Given the description of an element on the screen output the (x, y) to click on. 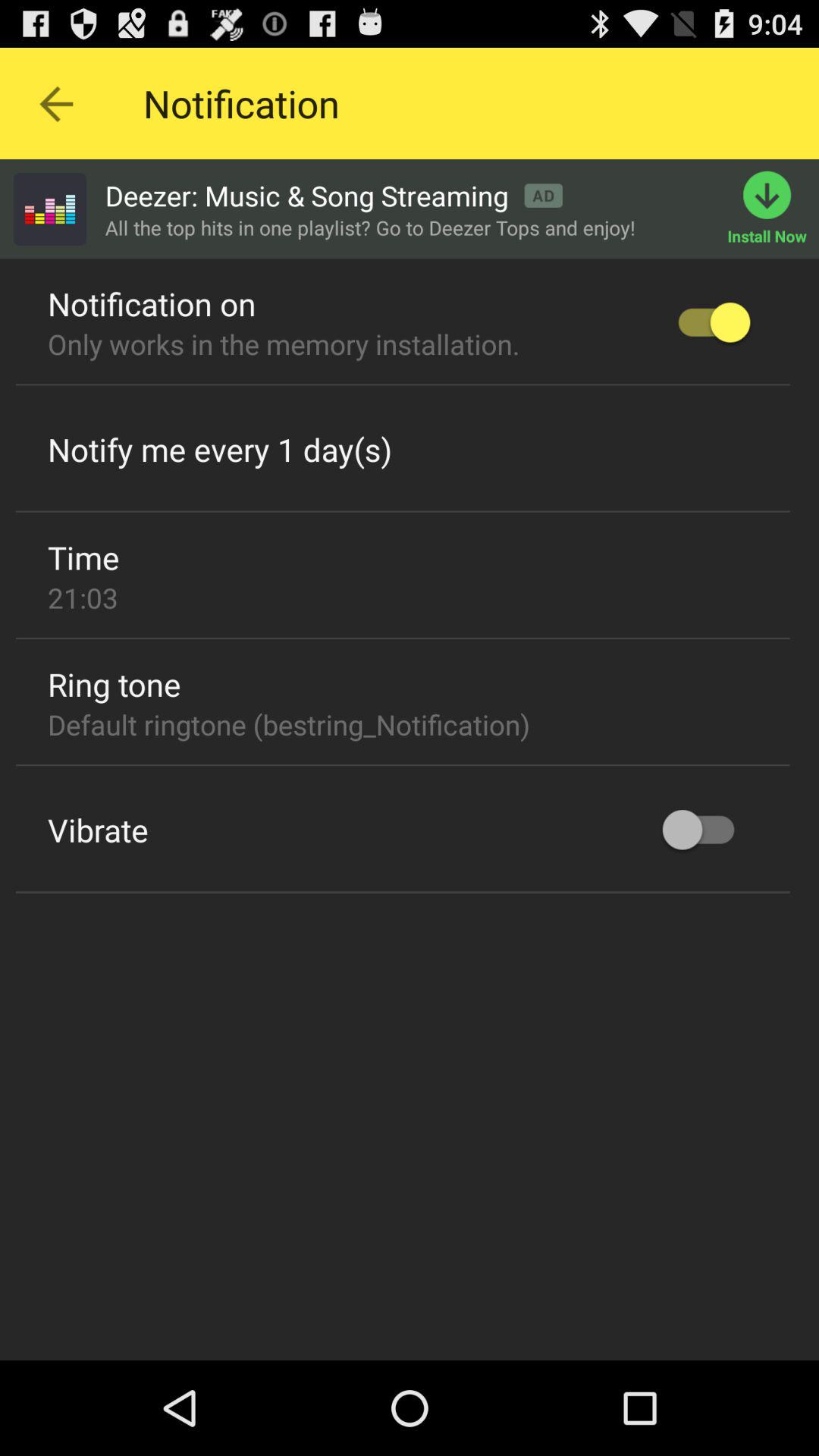
tap item below the notify me every icon (402, 511)
